Given the description of an element on the screen output the (x, y) to click on. 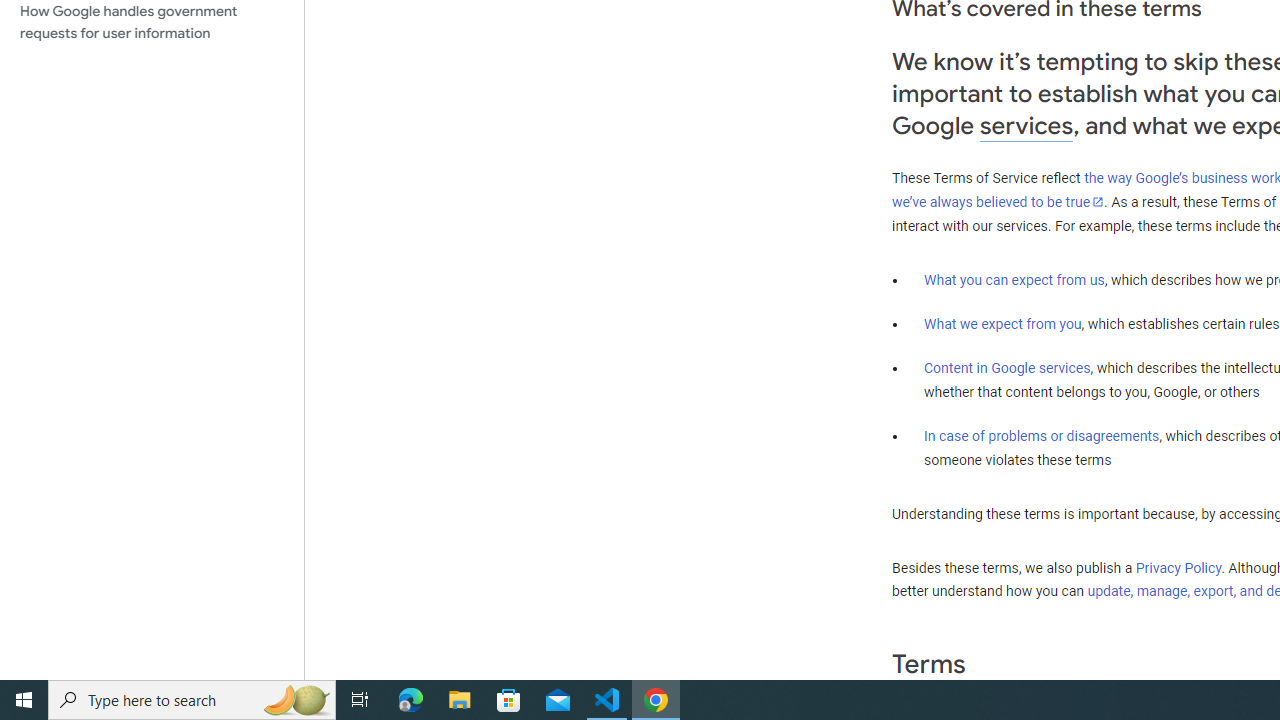
In case of problems or disagreements (1041, 435)
What you can expect from us (1014, 279)
What we expect from you (1002, 323)
services (1026, 125)
Content in Google services (1007, 368)
